Given the description of an element on the screen output the (x, y) to click on. 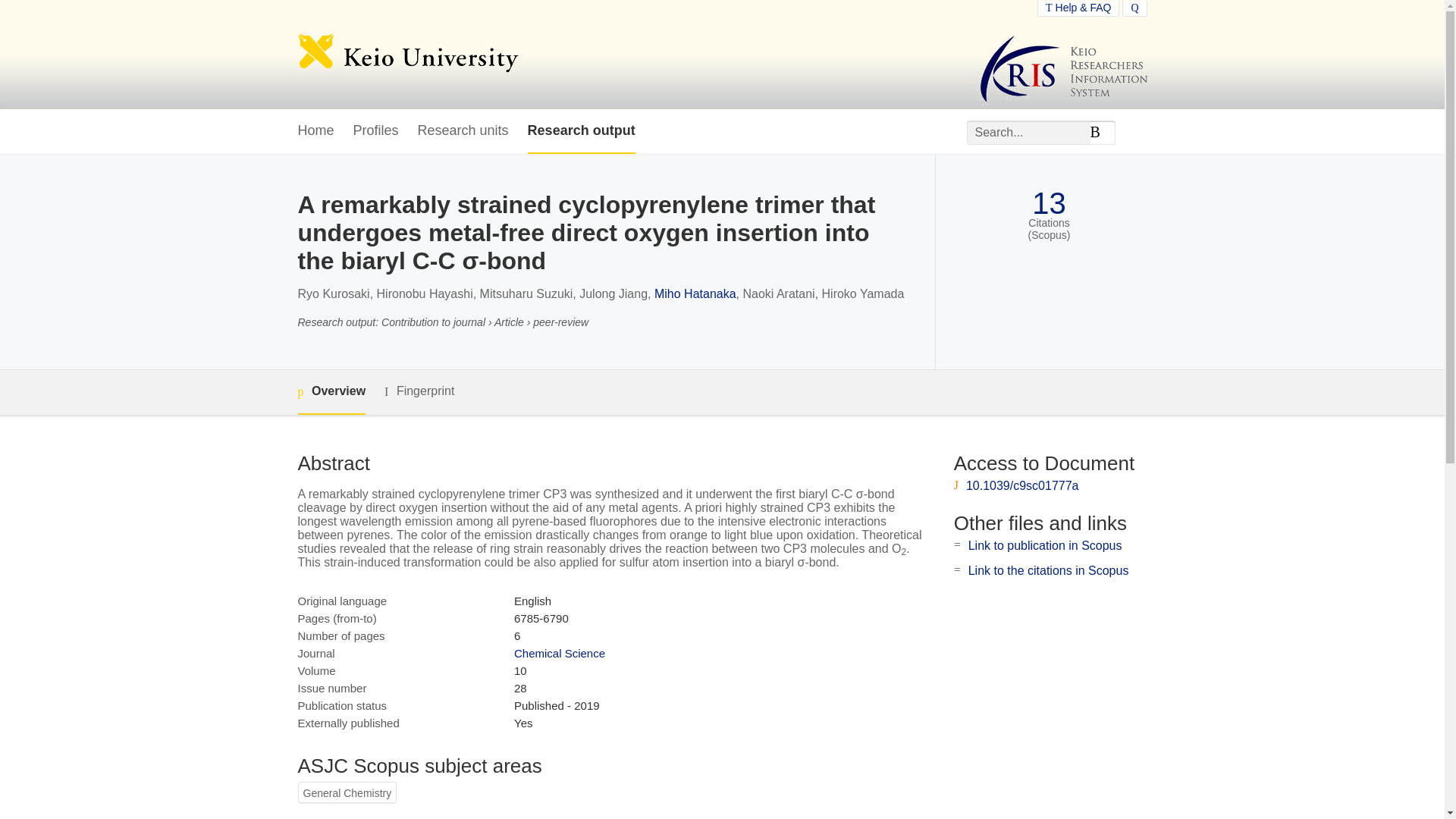
Keio University Home (407, 54)
Research units (462, 130)
13 (1048, 203)
Chemical Science (559, 653)
Overview (331, 392)
Research output (580, 130)
Link to publication in Scopus (1045, 545)
Profiles (375, 130)
Miho Hatanaka (694, 293)
